Given the description of an element on the screen output the (x, y) to click on. 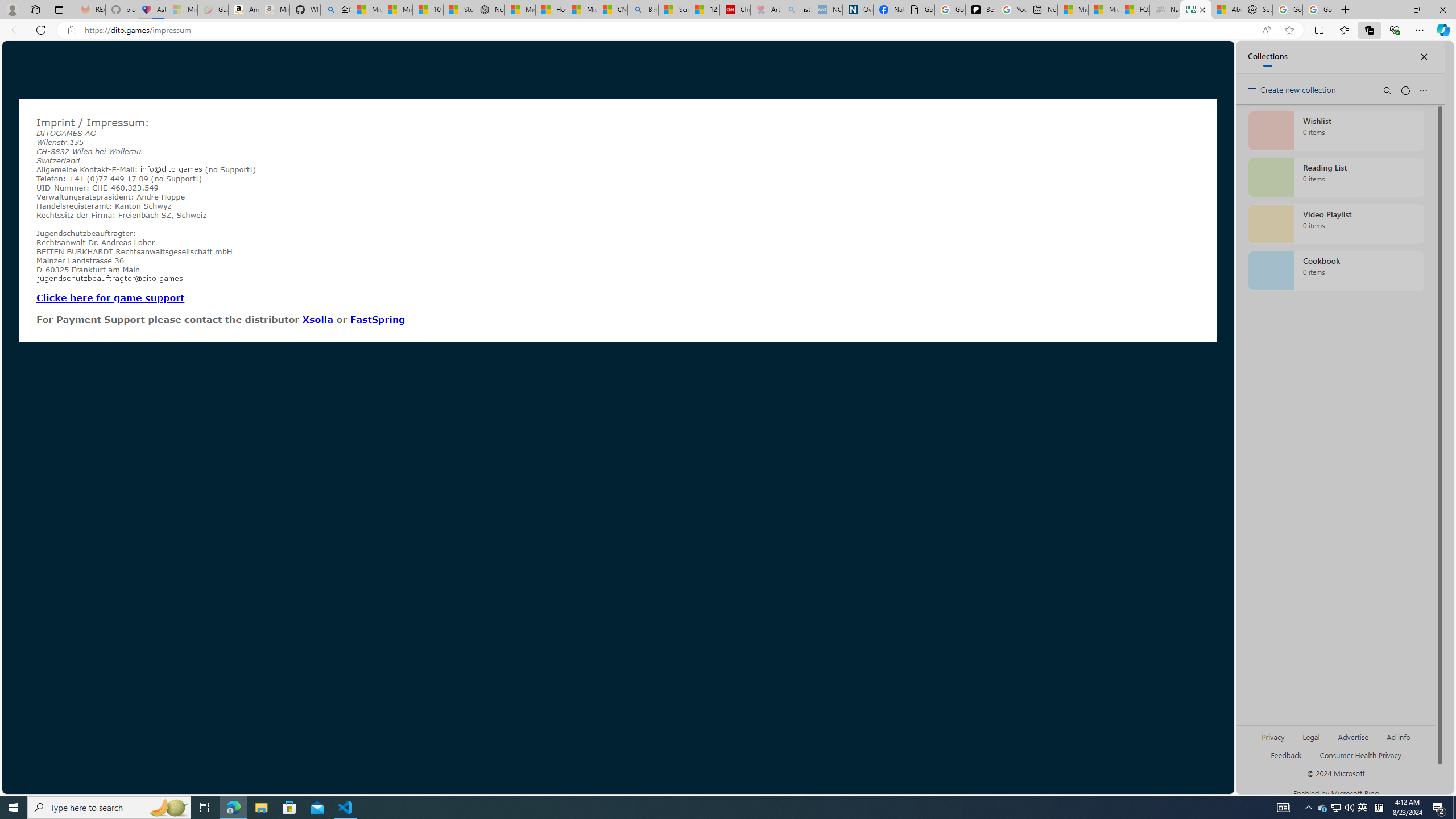
DITOGAMES AG Imprint (1194, 9)
Science - MSN (673, 9)
Asthma Inhalers: Names and Types (151, 9)
